Given the description of an element on the screen output the (x, y) to click on. 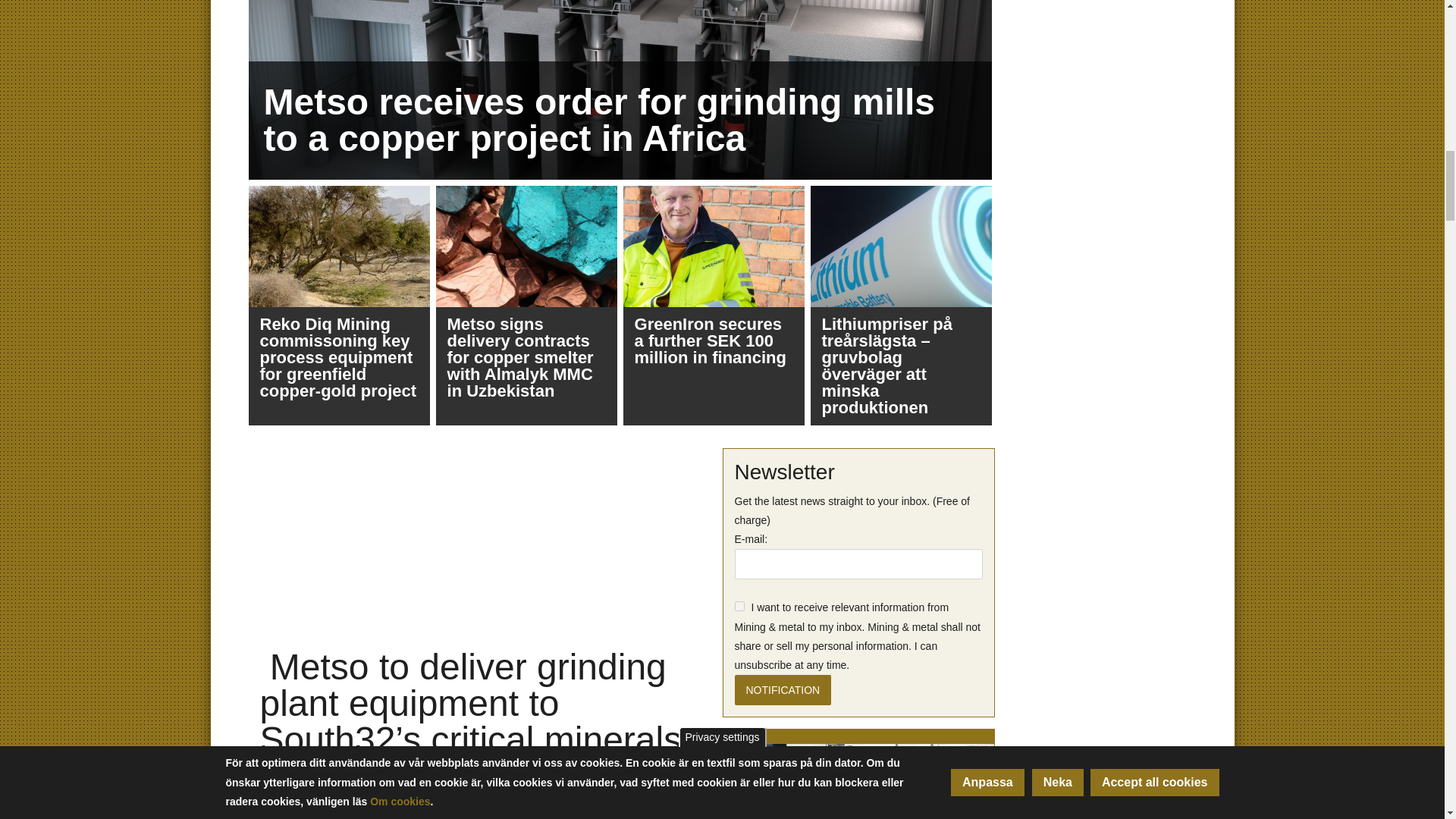
3rd party ad content (1100, 772)
Notification (782, 689)
